Given the description of an element on the screen output the (x, y) to click on. 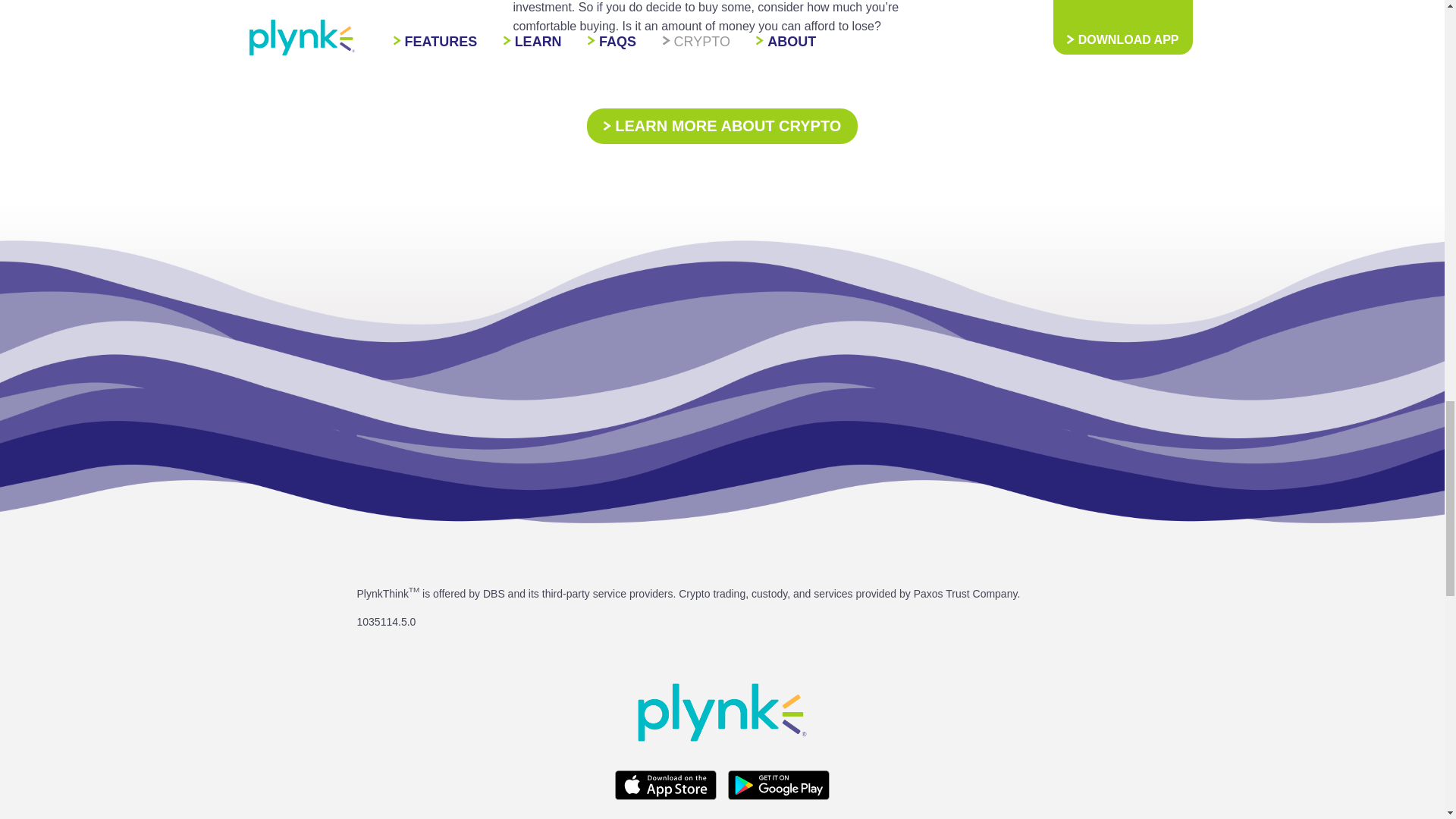
LEARN MORE ABOUT CRYPTO (722, 126)
Google Play Store (778, 785)
App Store (665, 785)
, opens in new window (669, 795)
Plynk Logo (722, 712)
, opens in new window (778, 795)
